Given the description of an element on the screen output the (x, y) to click on. 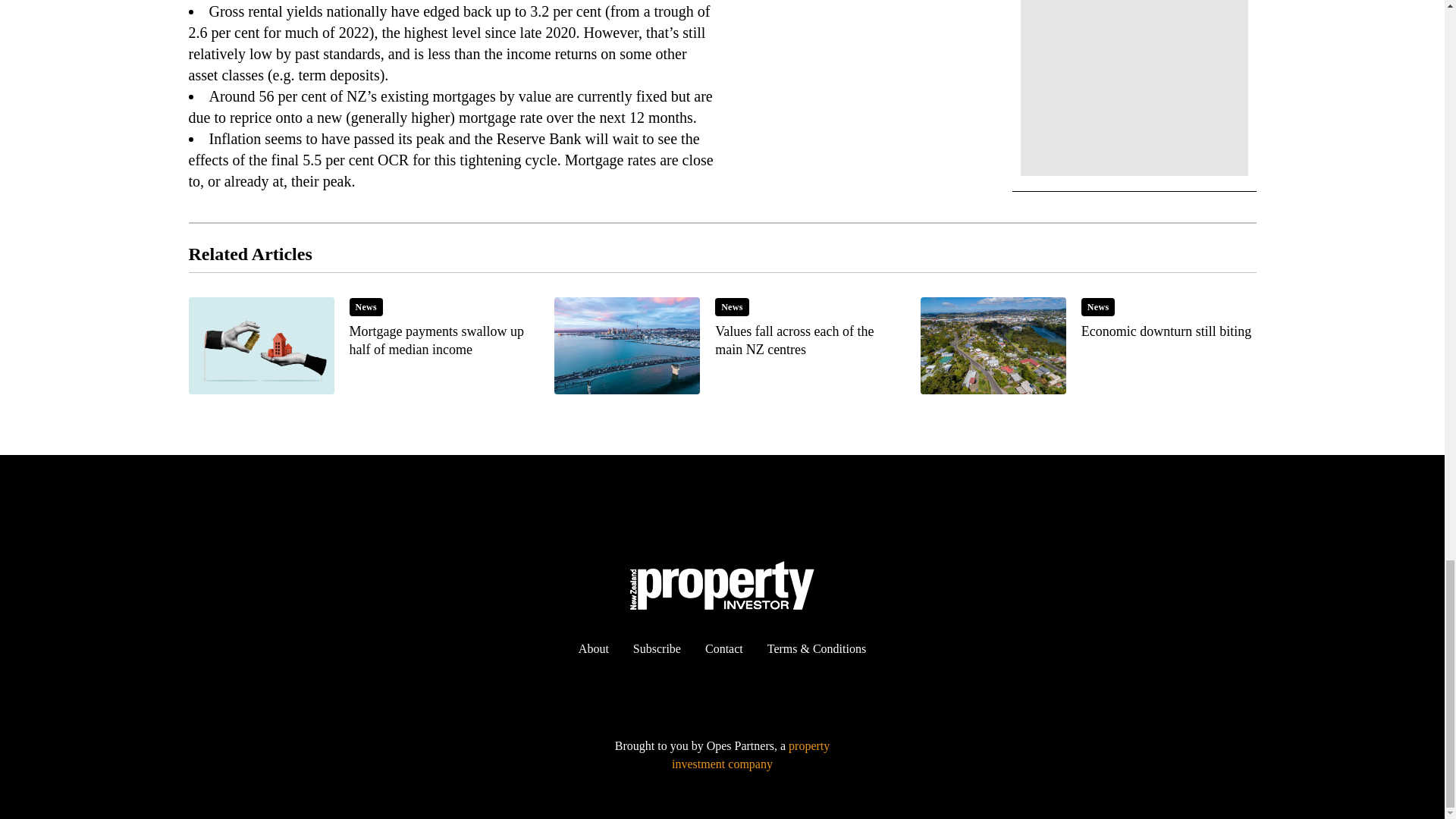
About (593, 648)
Contact (721, 345)
property investment company (355, 345)
Subscribe (1088, 345)
